Given the description of an element on the screen output the (x, y) to click on. 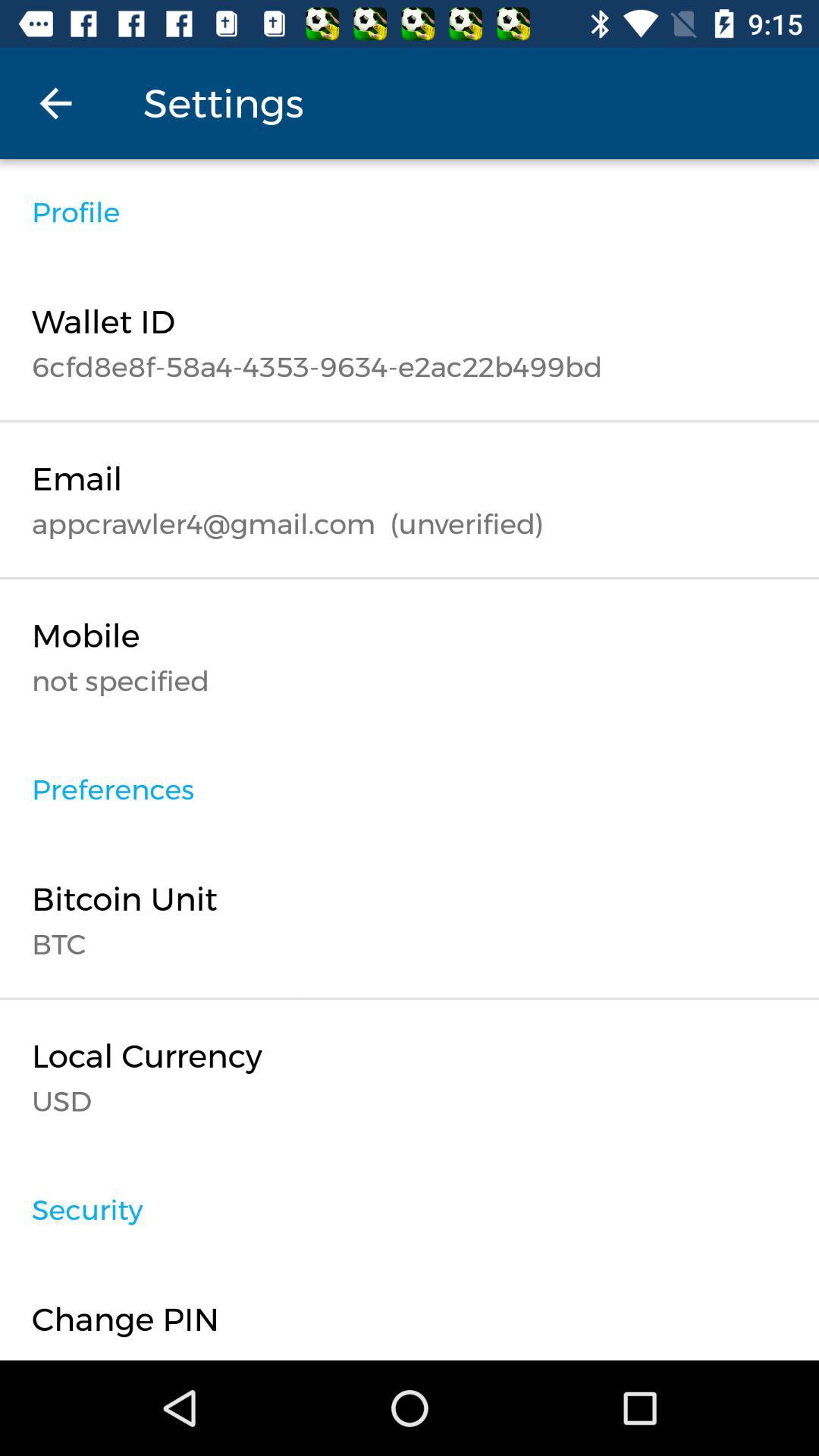
click the icon next to the settings item (55, 103)
